Given the description of an element on the screen output the (x, y) to click on. 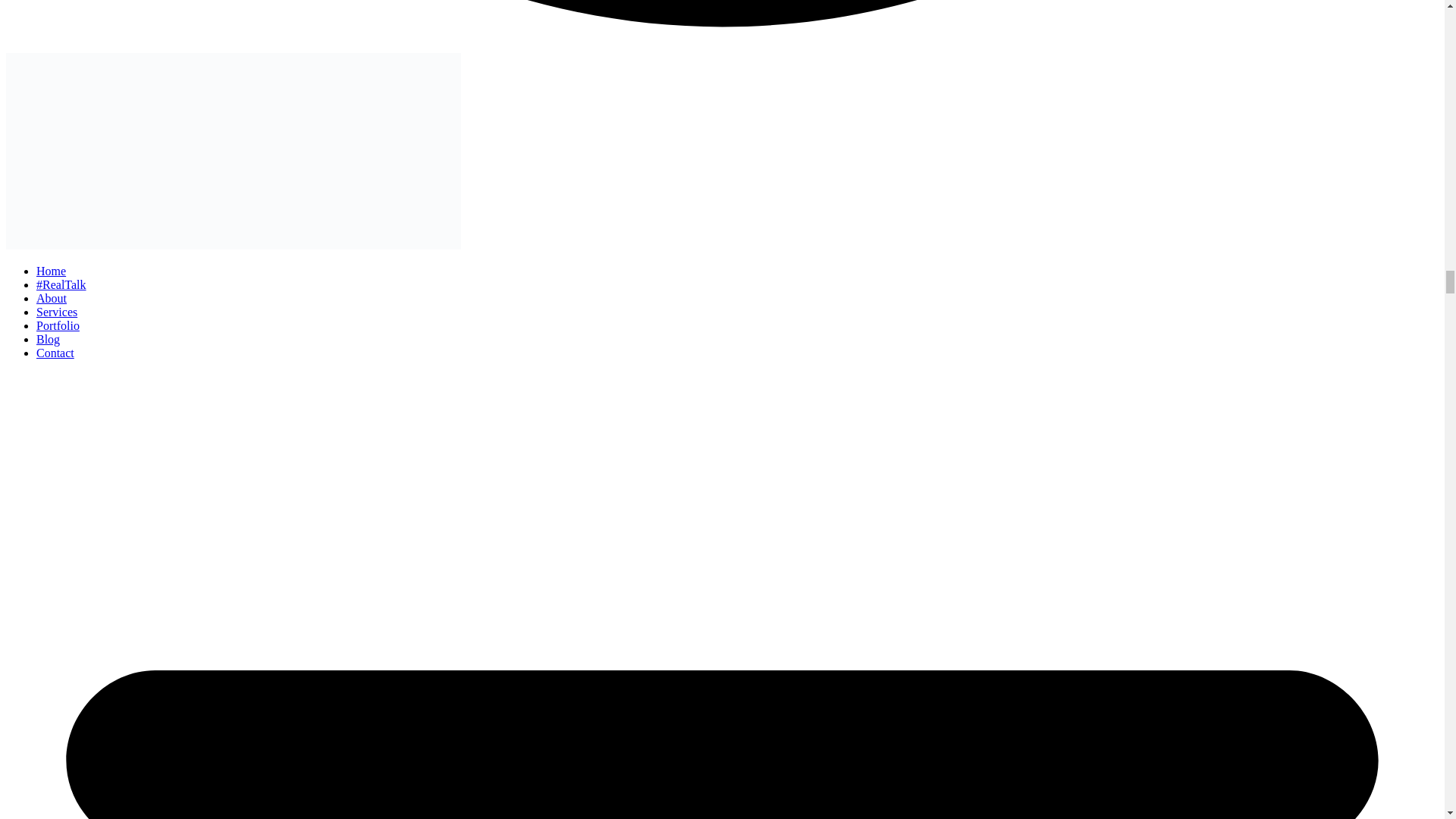
Blog (47, 338)
Services (56, 311)
Contact (55, 352)
Portfolio (58, 325)
Home (50, 270)
About (51, 297)
